Given the description of an element on the screen output the (x, y) to click on. 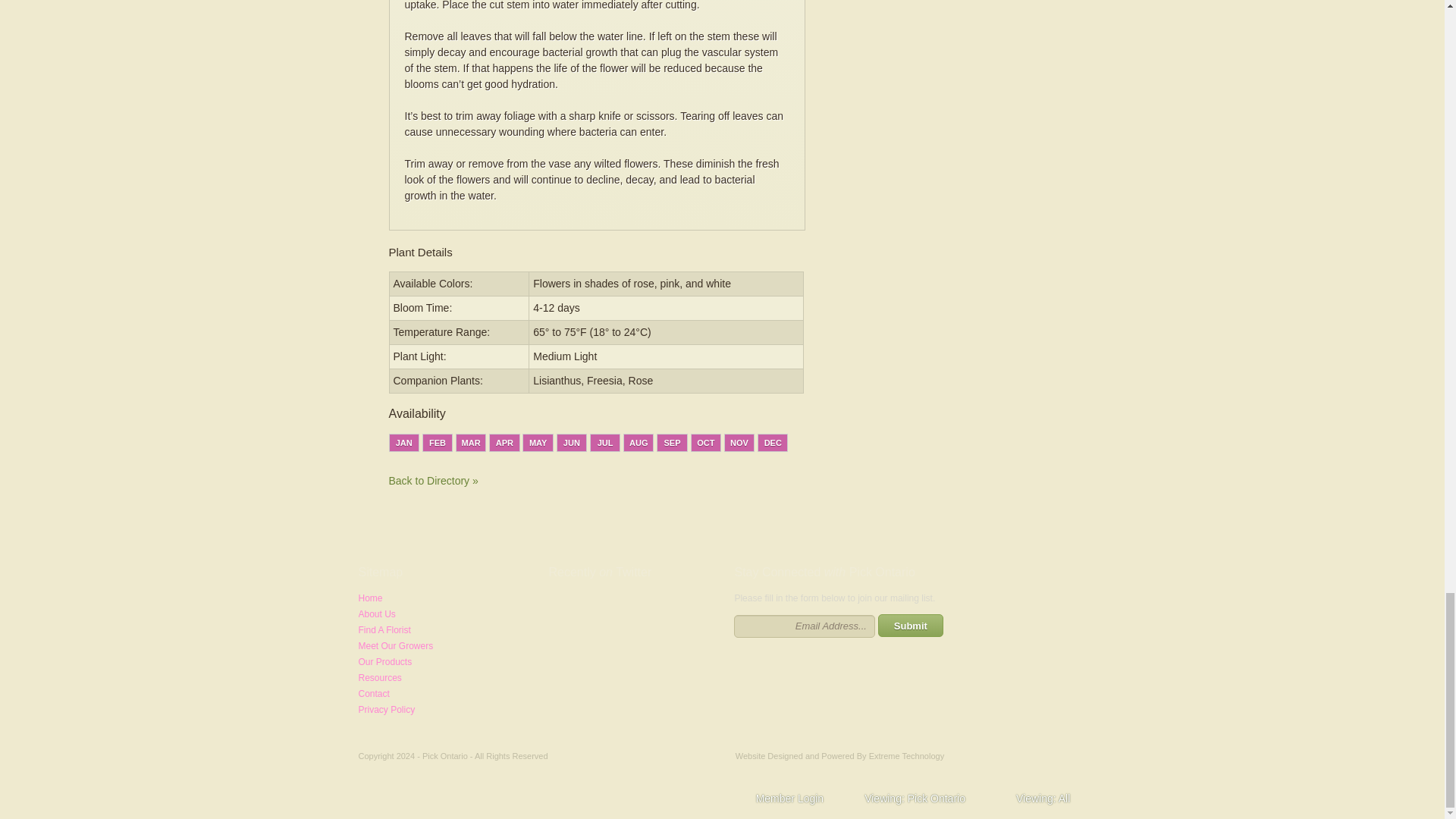
Home (369, 597)
Find A Florist (384, 629)
Email Address... (804, 626)
Submit (910, 625)
About Us (376, 614)
